Given the description of an element on the screen output the (x, y) to click on. 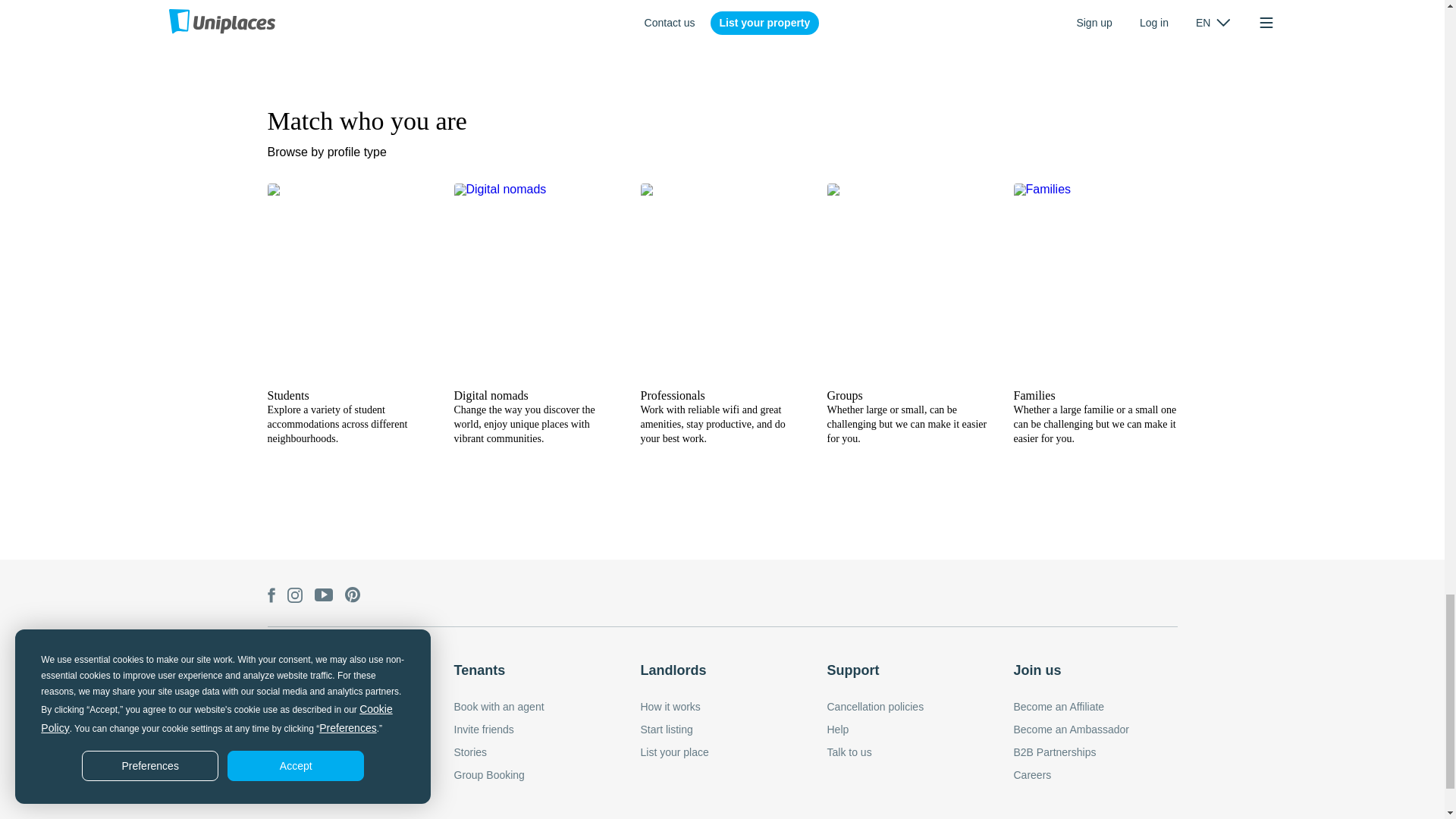
Facebook (270, 596)
Pinterest (351, 596)
Instagram (293, 596)
Youtube (322, 595)
